Given the description of an element on the screen output the (x, y) to click on. 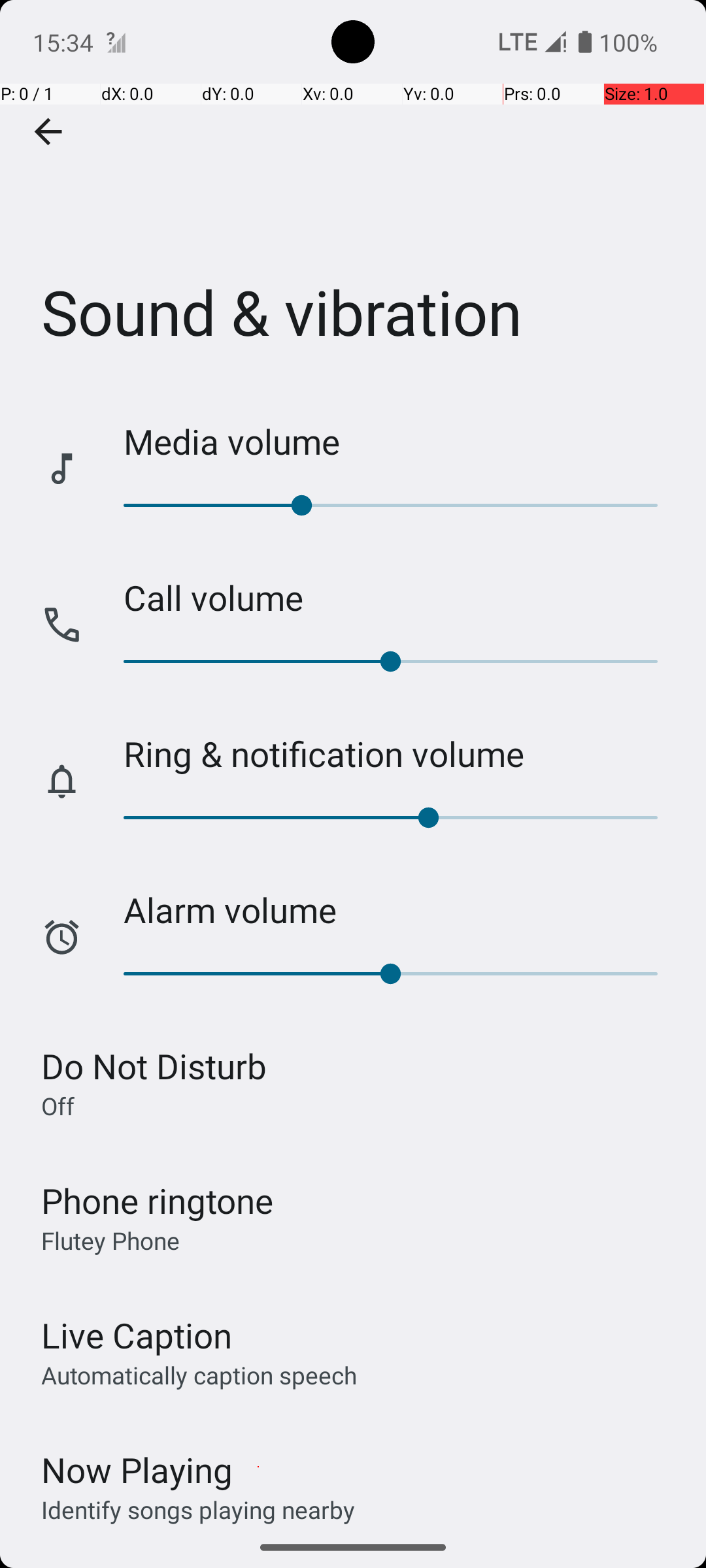
Now Playing Element type: android.widget.TextView (136, 1469)
Identify songs playing nearby Element type: android.widget.TextView (197, 1509)
